Given the description of an element on the screen output the (x, y) to click on. 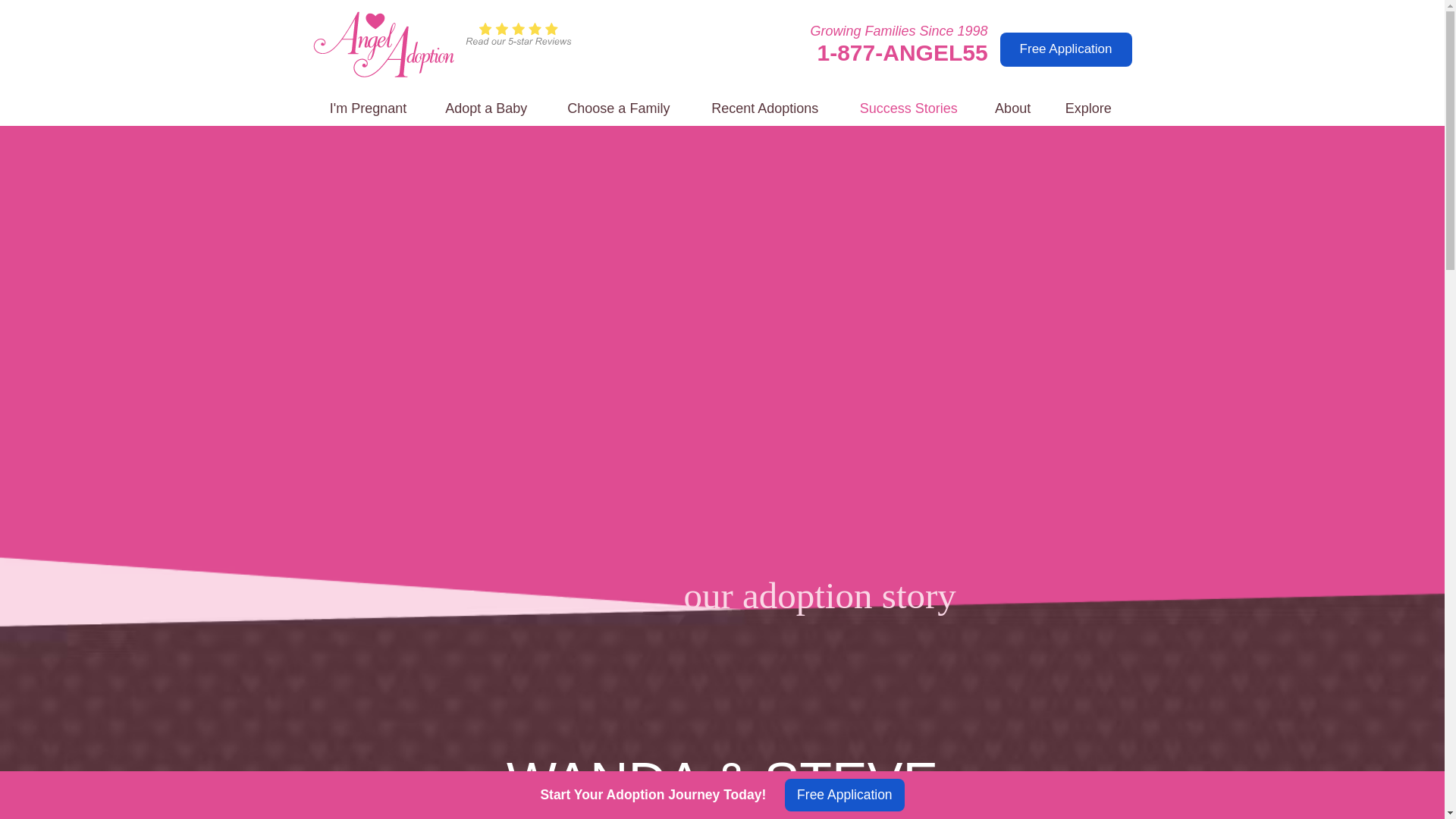
Waiting Families (618, 109)
Free Application (1066, 49)
Adopt a Baby (486, 109)
1-877-ANGEL55 (902, 52)
Choose a Family (618, 109)
I'm Pregnant (368, 109)
